Given the description of an element on the screen output the (x, y) to click on. 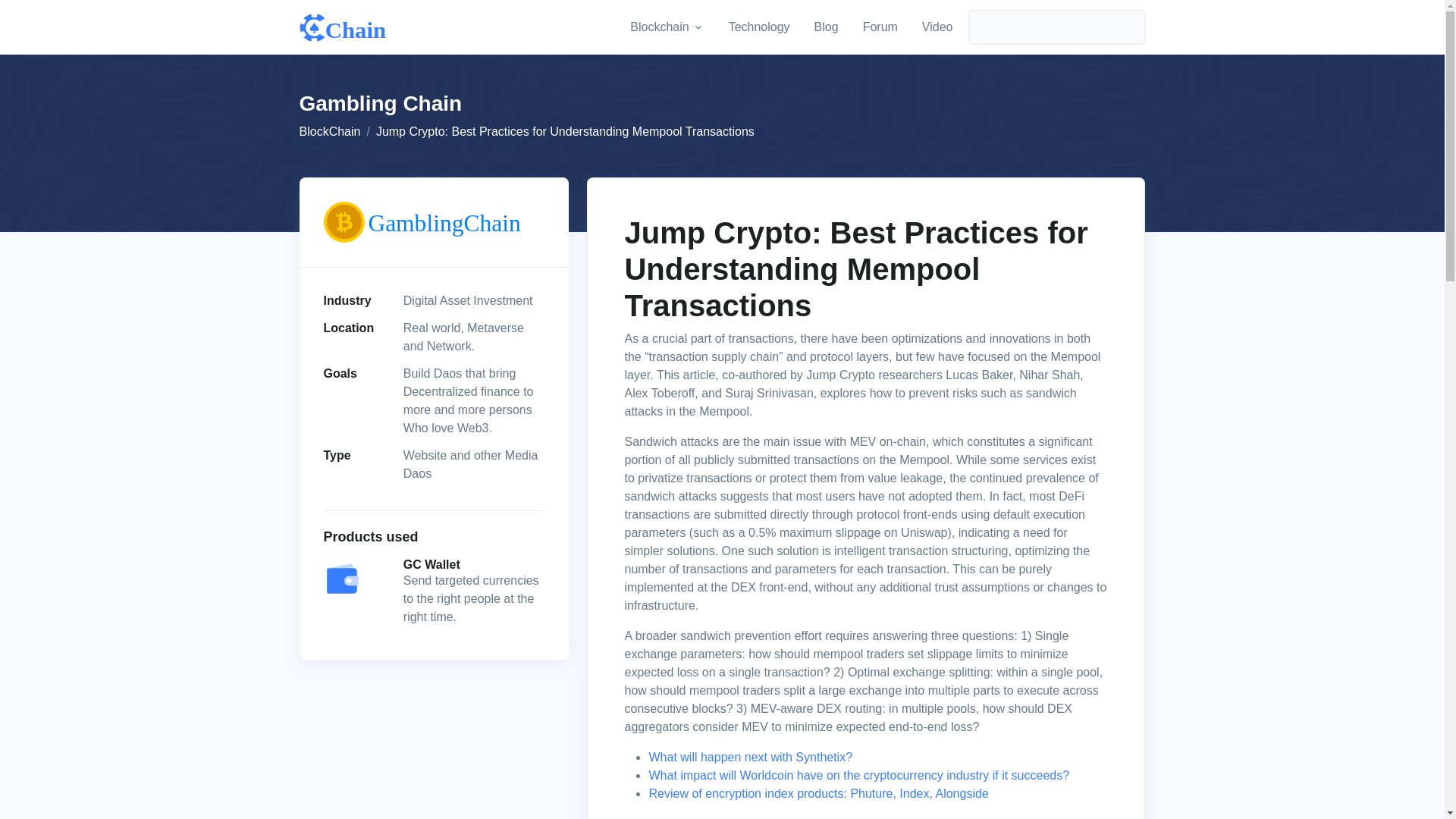
Technology (759, 26)
Forum (880, 26)
What will happen next with Synthetix? (882, 26)
Blockchain (749, 757)
Blog (667, 26)
Video (826, 26)
BlockChain (937, 26)
